Given the description of an element on the screen output the (x, y) to click on. 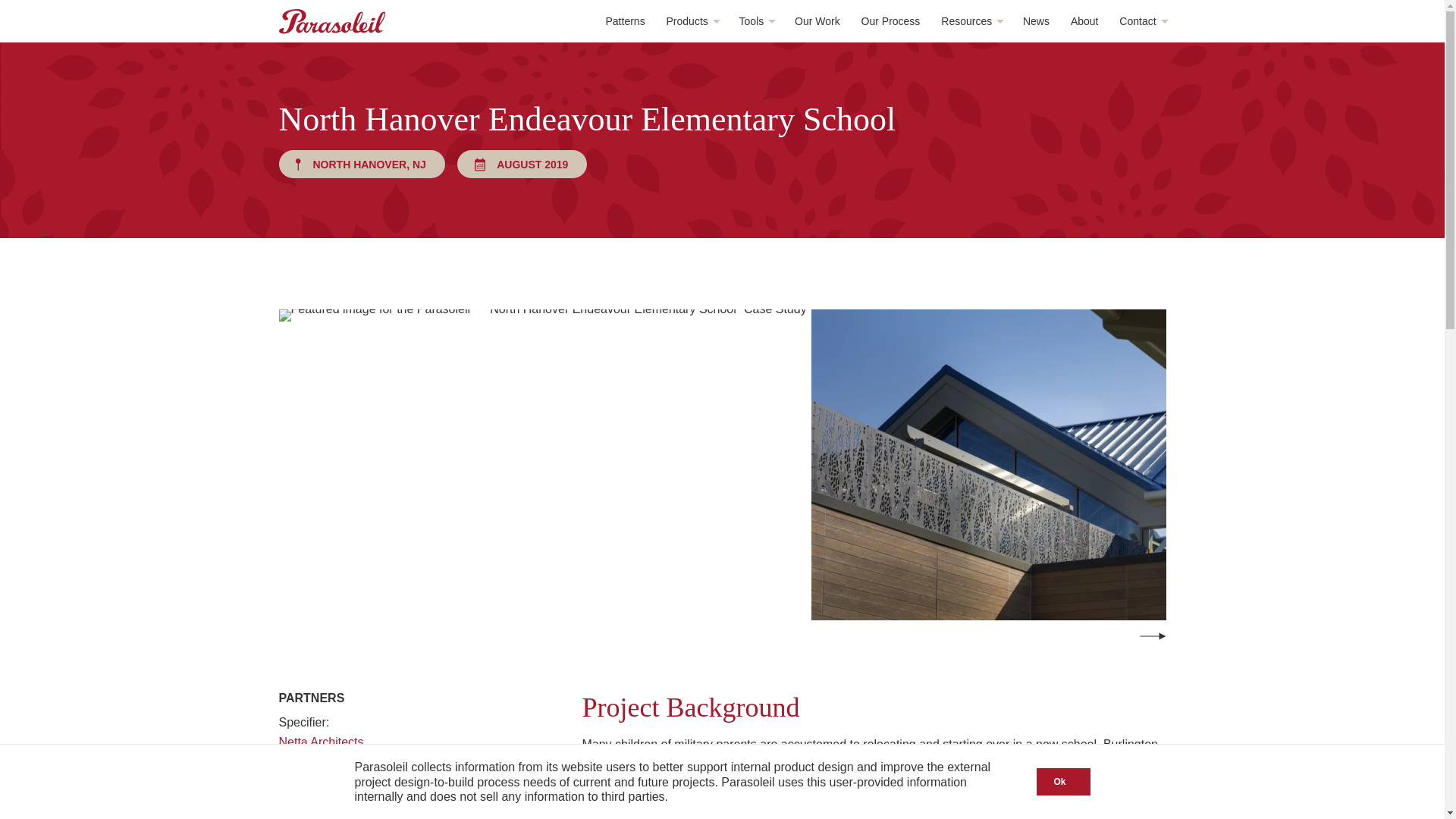
Ok (1062, 781)
About (1084, 21)
Next Slide (1152, 635)
Resources  (970, 21)
Products  (692, 21)
Our Process (890, 21)
Patterns (624, 21)
Tools  (756, 21)
News (1035, 21)
Contact  (1141, 21)
